Given the description of an element on the screen output the (x, y) to click on. 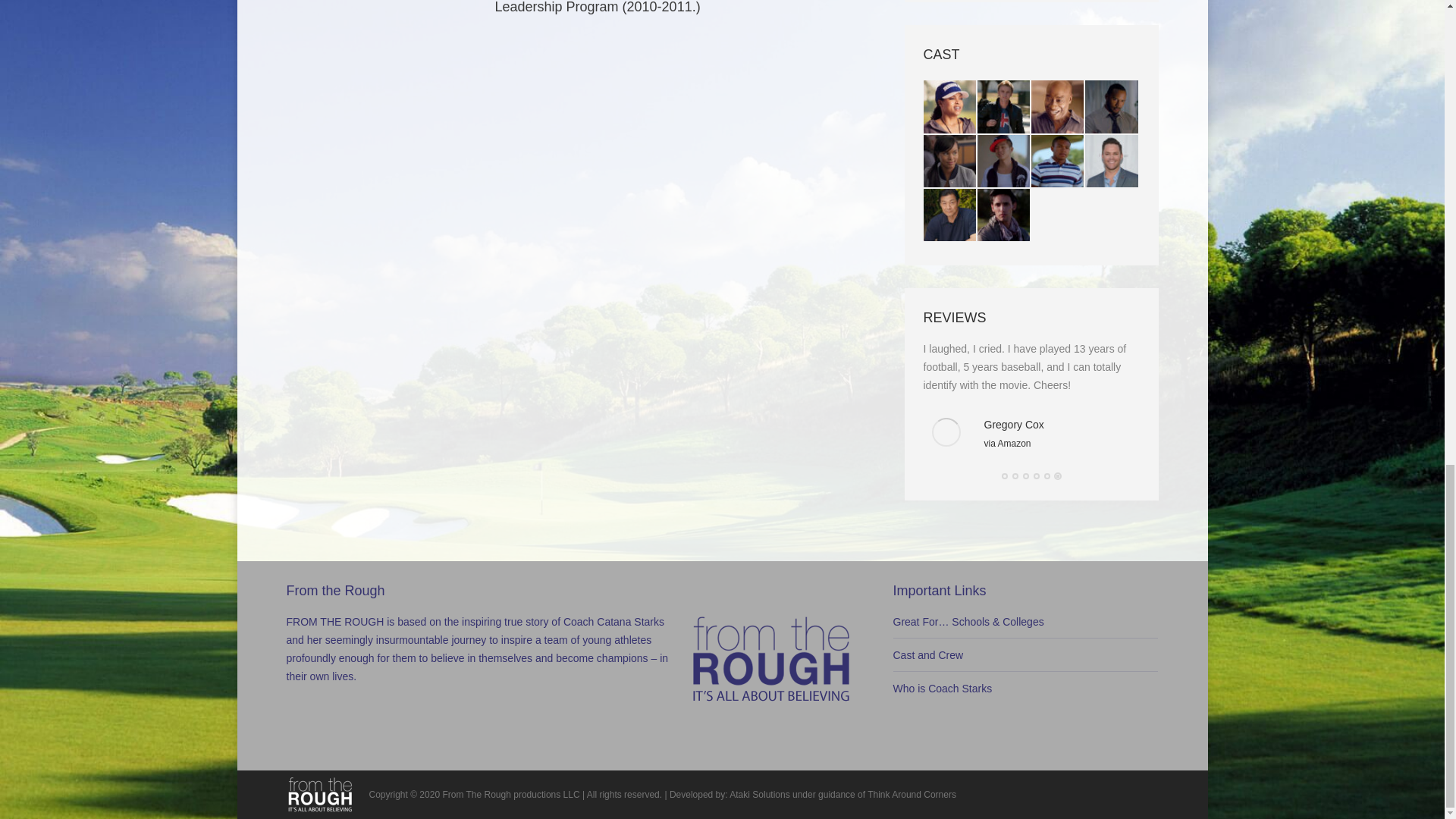
Justin-Chon (1003, 162)
Taraji P. Henson (949, 107)
Robert-Bailey-Jr (1057, 162)
James-Saito (949, 215)
tom-felton (1003, 107)
michael-clarke-duncan (1057, 107)
Paul-Hodge (1111, 162)
Ben-Youcef (1003, 215)
letoya-luckett (949, 162)
henry-simon (1111, 107)
